Given the description of an element on the screen output the (x, y) to click on. 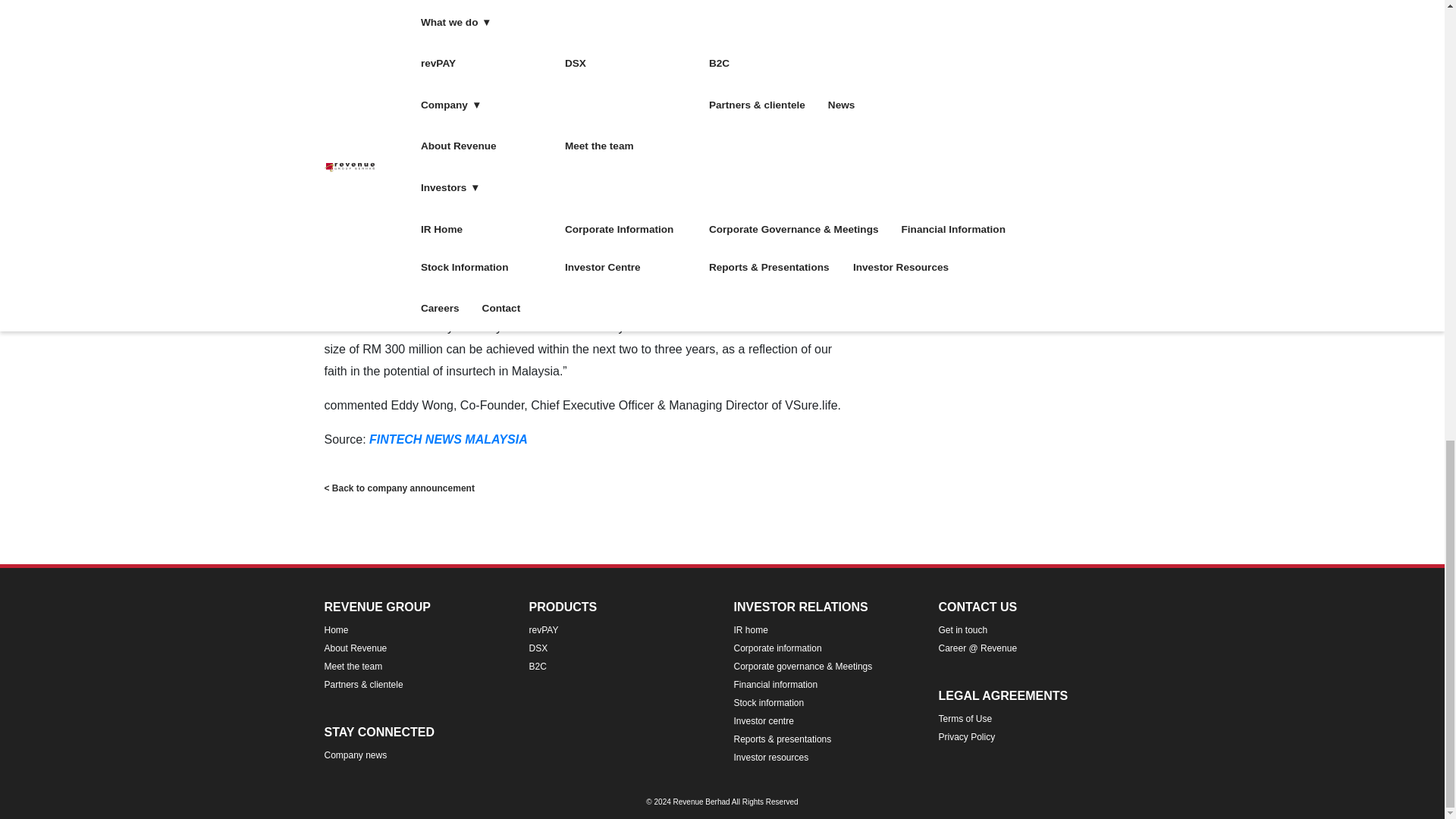
Company news (355, 755)
DSX (538, 647)
IR home (750, 629)
Meet the team (353, 665)
Corporate information (777, 647)
Stock information (769, 702)
Investor resources (771, 757)
About Revenue (355, 647)
Home (336, 629)
B2C (538, 665)
